Given the description of an element on the screen output the (x, y) to click on. 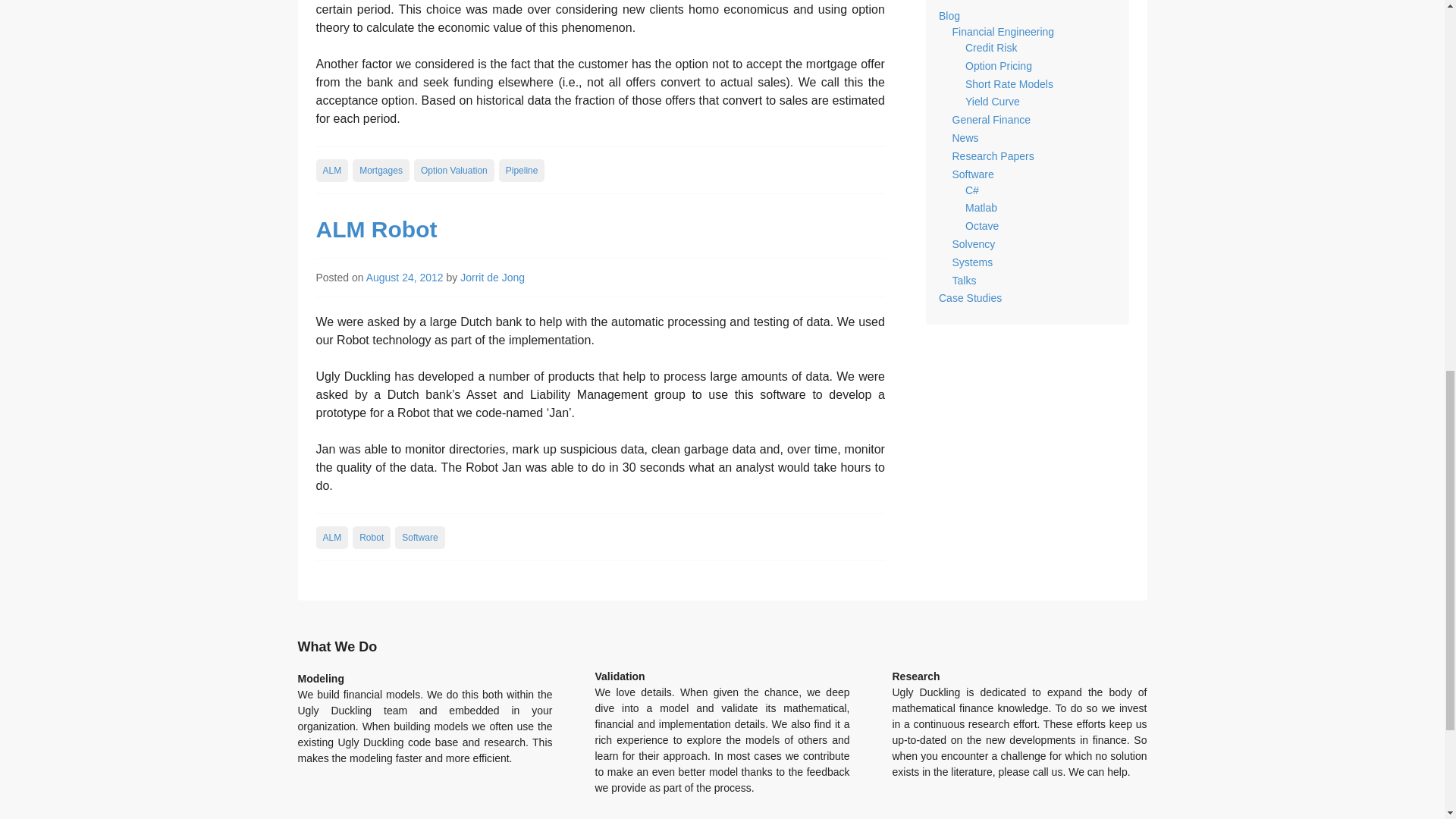
ALM (331, 169)
Blog (949, 15)
August 24, 2012 (405, 277)
Software (419, 537)
ALM (331, 537)
Jorrit de Jong (492, 277)
Robot (371, 537)
Financial Engineering (1003, 31)
Pipeline (521, 169)
Option Valuation (454, 169)
